Given the description of an element on the screen output the (x, y) to click on. 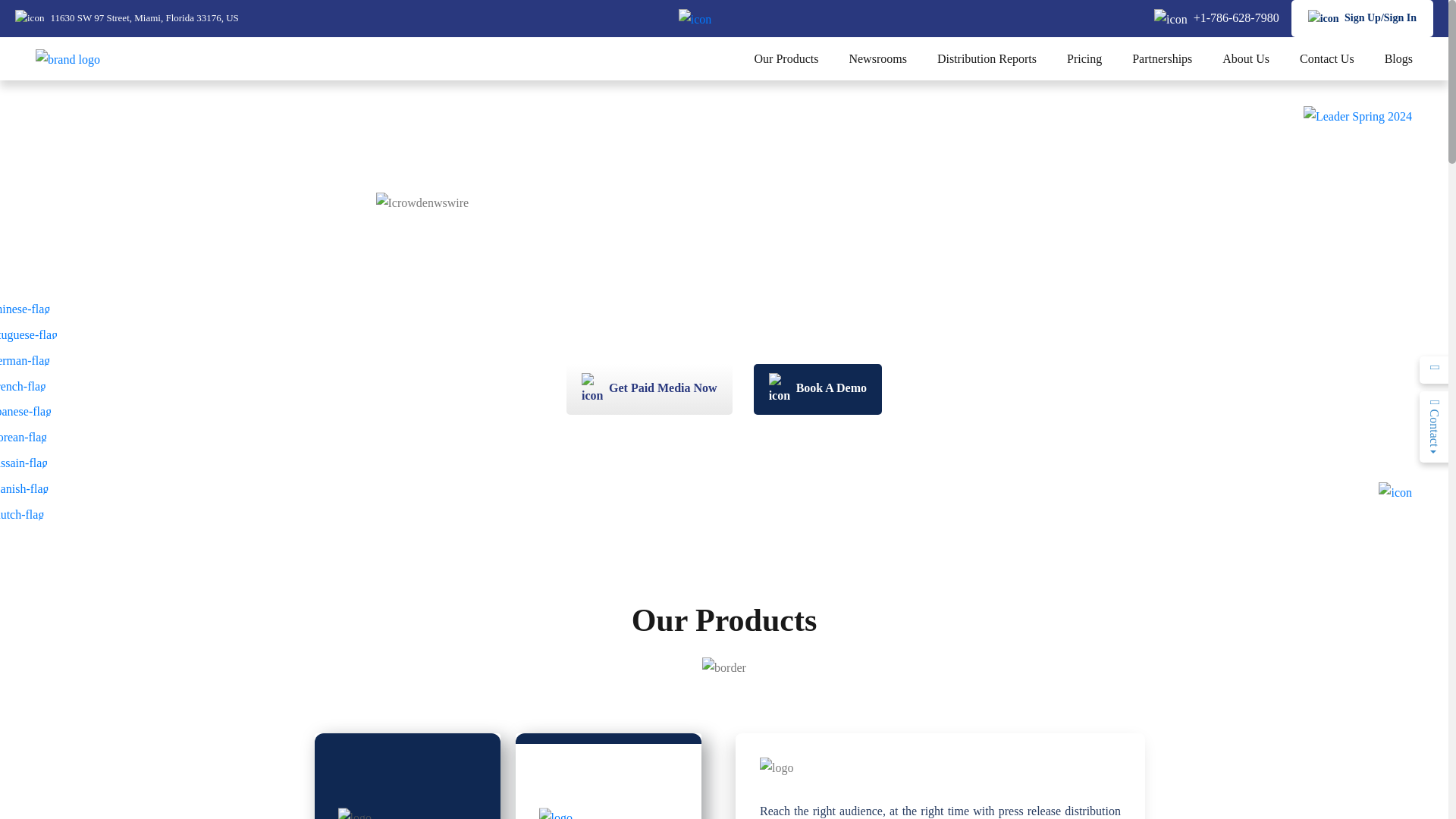
spanish (29, 488)
Contact Us (1327, 58)
Russian (29, 463)
French (29, 385)
Newsrooms (876, 58)
About Us (1245, 58)
Chinese (29, 308)
Korean (29, 436)
Distribution Reports (986, 58)
Dutch (29, 514)
